Given the description of an element on the screen output the (x, y) to click on. 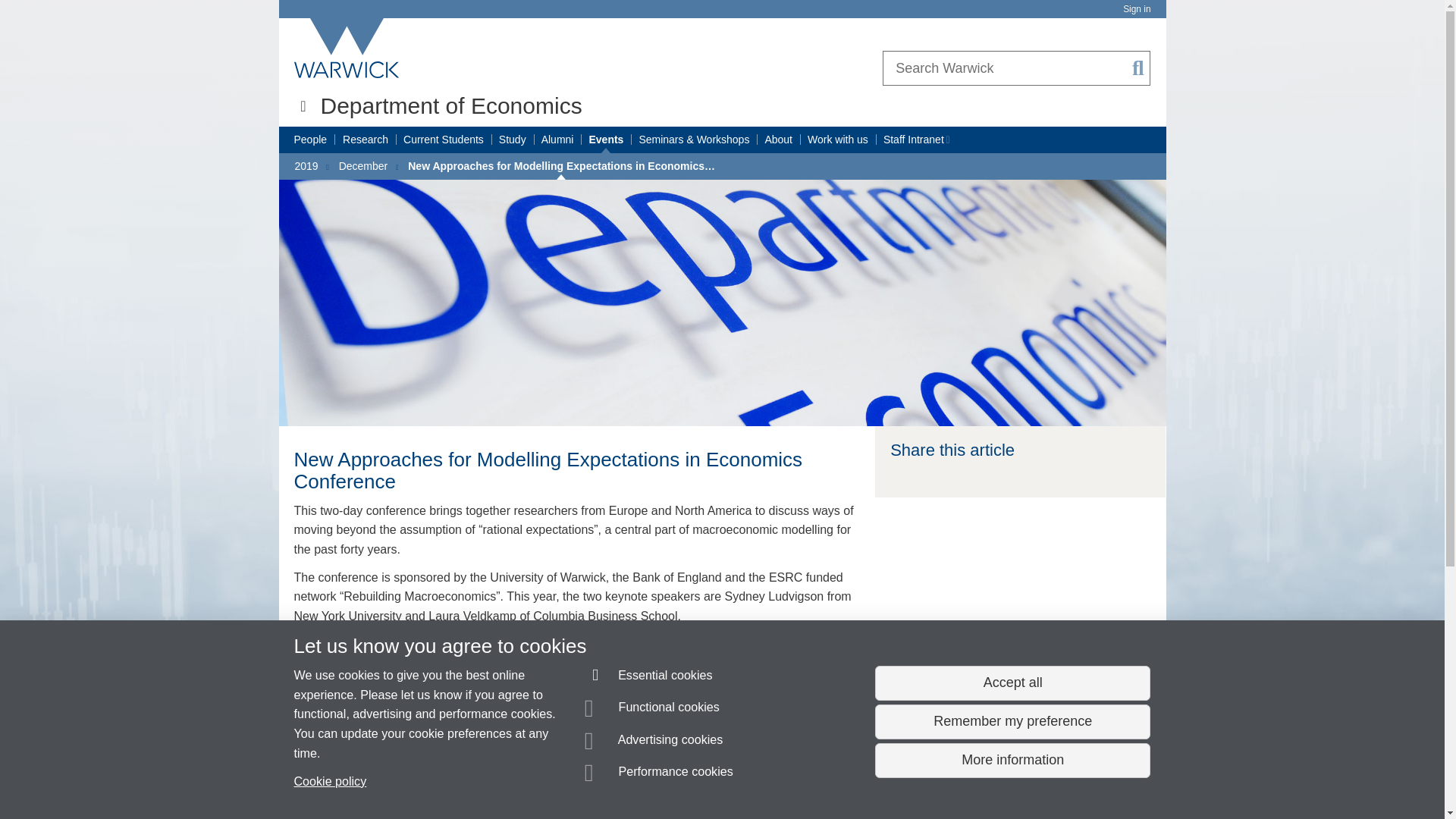
Research (365, 139)
Quick links (303, 105)
Sign in (1136, 9)
University of Warwick homepage (346, 48)
Study (512, 139)
Search (1138, 68)
Restricted permissions (946, 140)
Department of Economics (450, 105)
Events (605, 139)
Alumni (557, 139)
Current Students (443, 139)
